Given the description of an element on the screen output the (x, y) to click on. 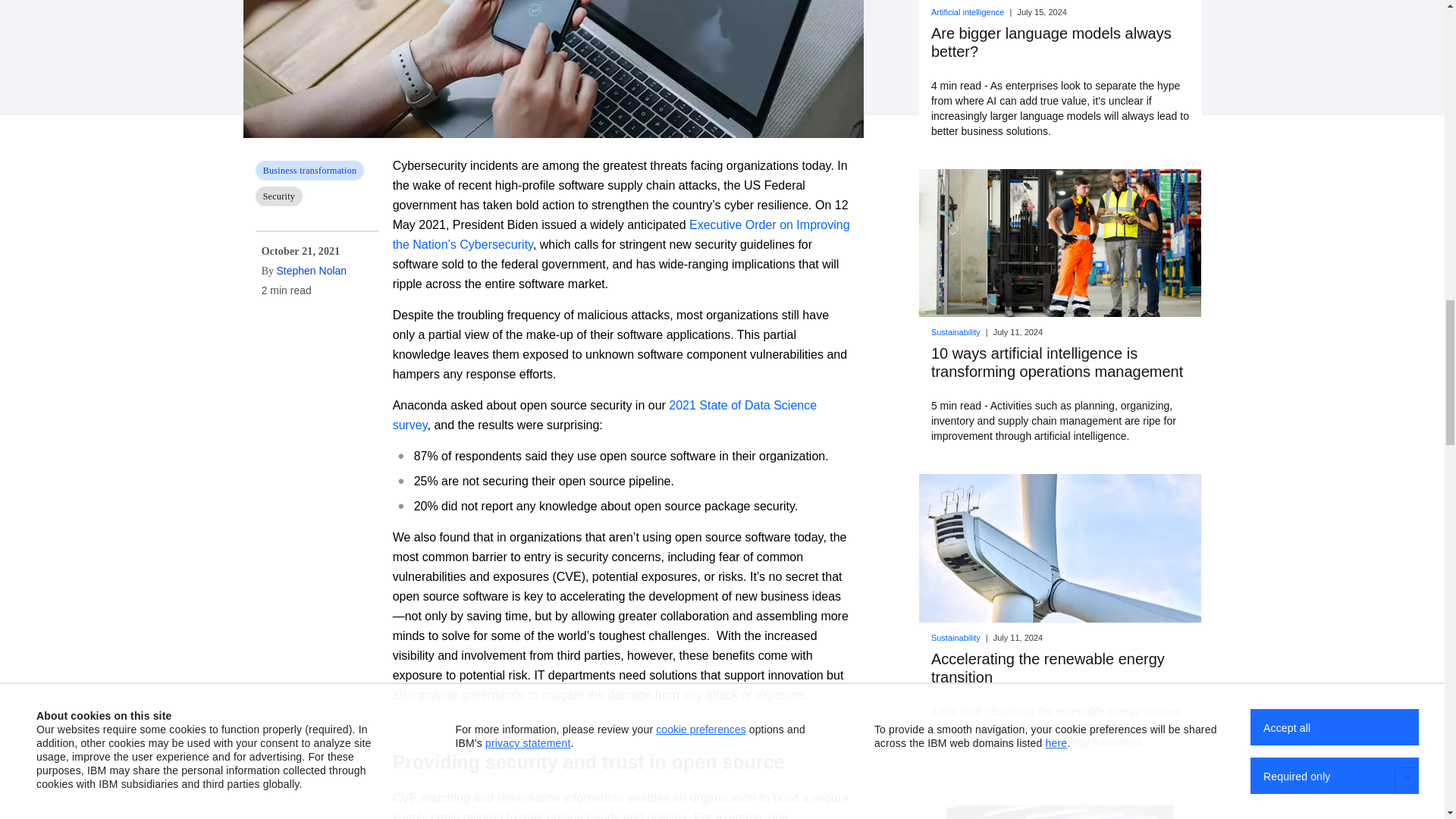
Security (324, 196)
Artificial intelligence (969, 11)
Sustainability (956, 331)
Sustainability (956, 637)
2021 State of Data Science survey (604, 414)
Business transformation (324, 170)
Stephen Nolan (311, 270)
